Given the description of an element on the screen output the (x, y) to click on. 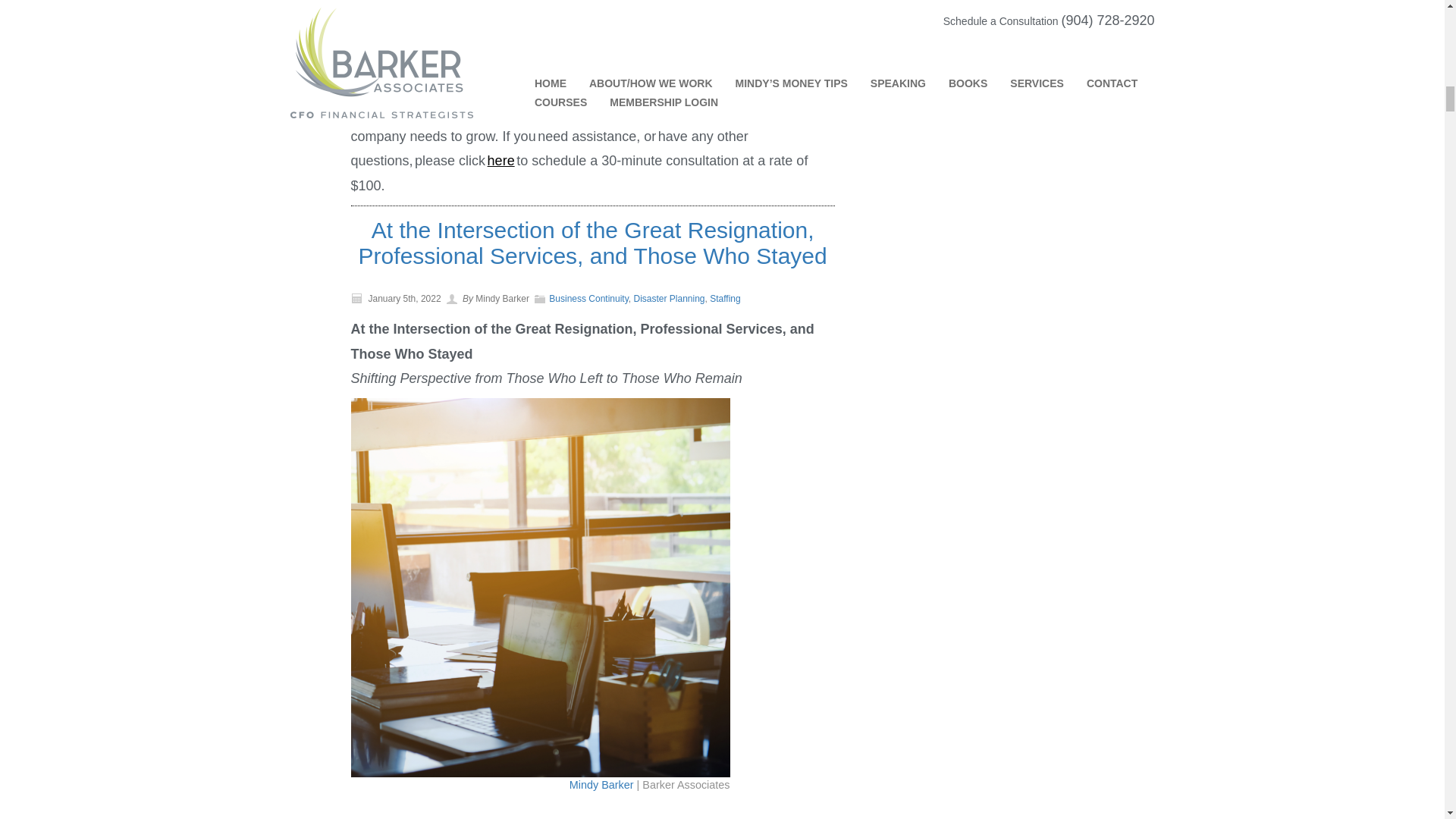
Read more (592, 242)
Disaster Planning (668, 298)
Mindy Barker (601, 784)
Business Continuity (588, 298)
here (501, 160)
Staffing (724, 298)
